Given the description of an element on the screen output the (x, y) to click on. 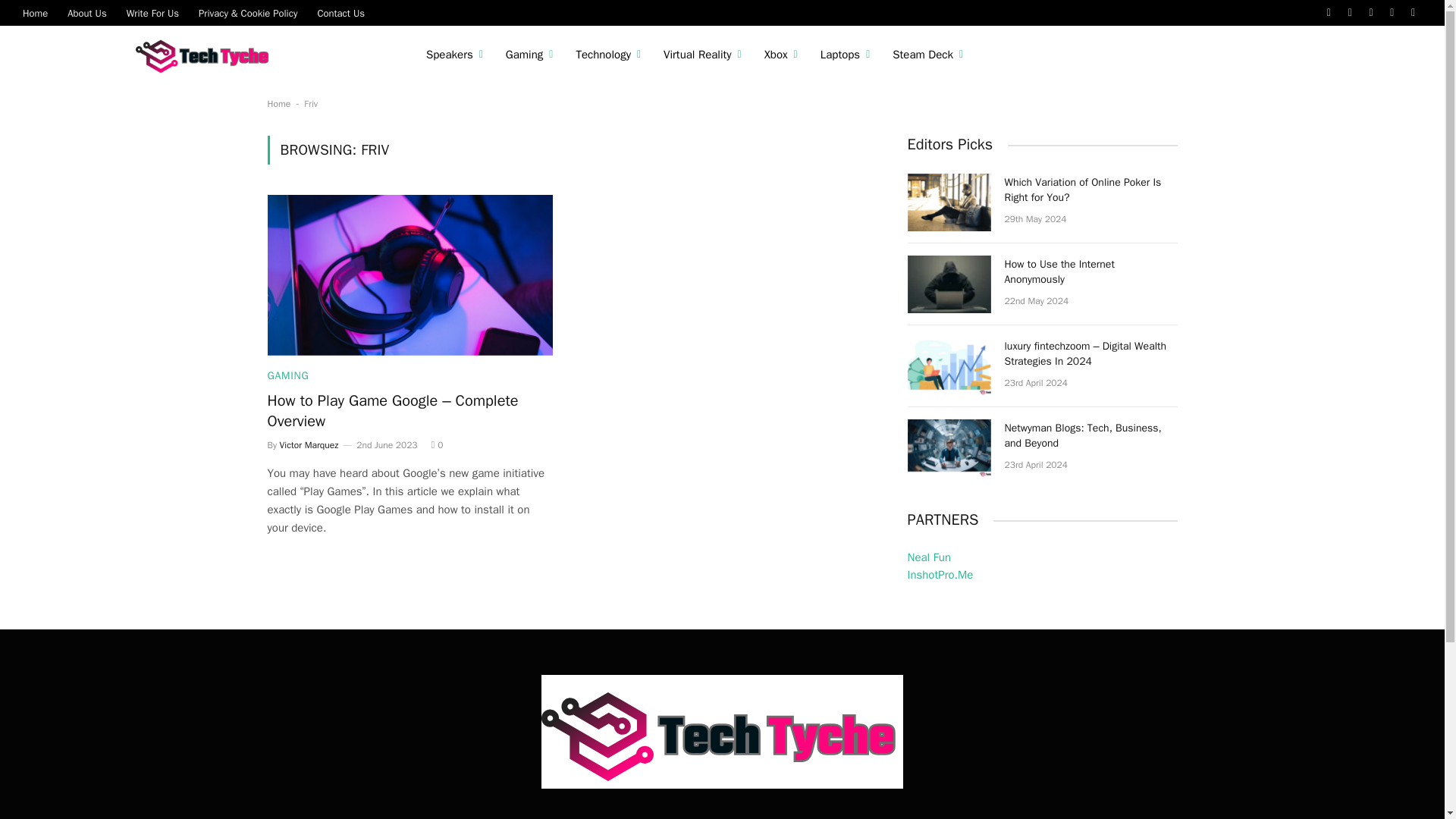
Contact Us (340, 12)
About Us (87, 12)
Write For Us (152, 12)
How to Use the Internet Anonymously (948, 283)
Netwyman Blogs: Tech, Business, and Beyond (948, 447)
Gaming (529, 54)
Techtyche (205, 54)
Home (35, 12)
Posts by Victor Marquez (309, 444)
Which Variation of Online Poker Is Right for You? (948, 201)
Speakers (454, 54)
